Given the description of an element on the screen output the (x, y) to click on. 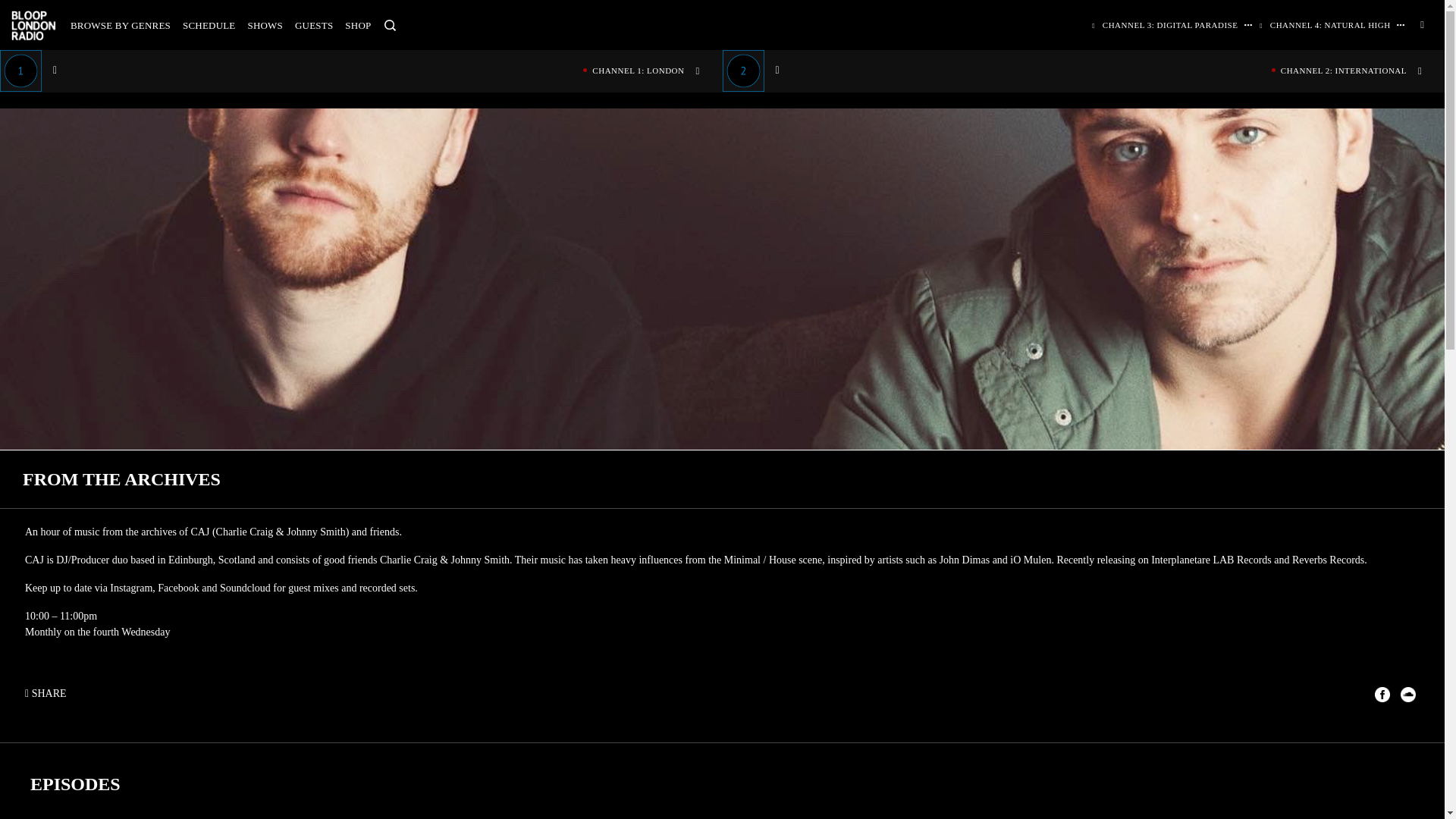
SHOWS (265, 25)
SCHEDULE (208, 25)
   CHANNEL 4: NATURAL HIGH (1326, 24)
SHOP (358, 25)
   CHANNEL 3: DIGITAL PARADISE (1166, 24)
      CHANNEL 1: LONDON (361, 70)
BROWSE BY GENRES (120, 25)
SHARE (48, 693)
GUESTS (313, 25)
